Given the description of an element on the screen output the (x, y) to click on. 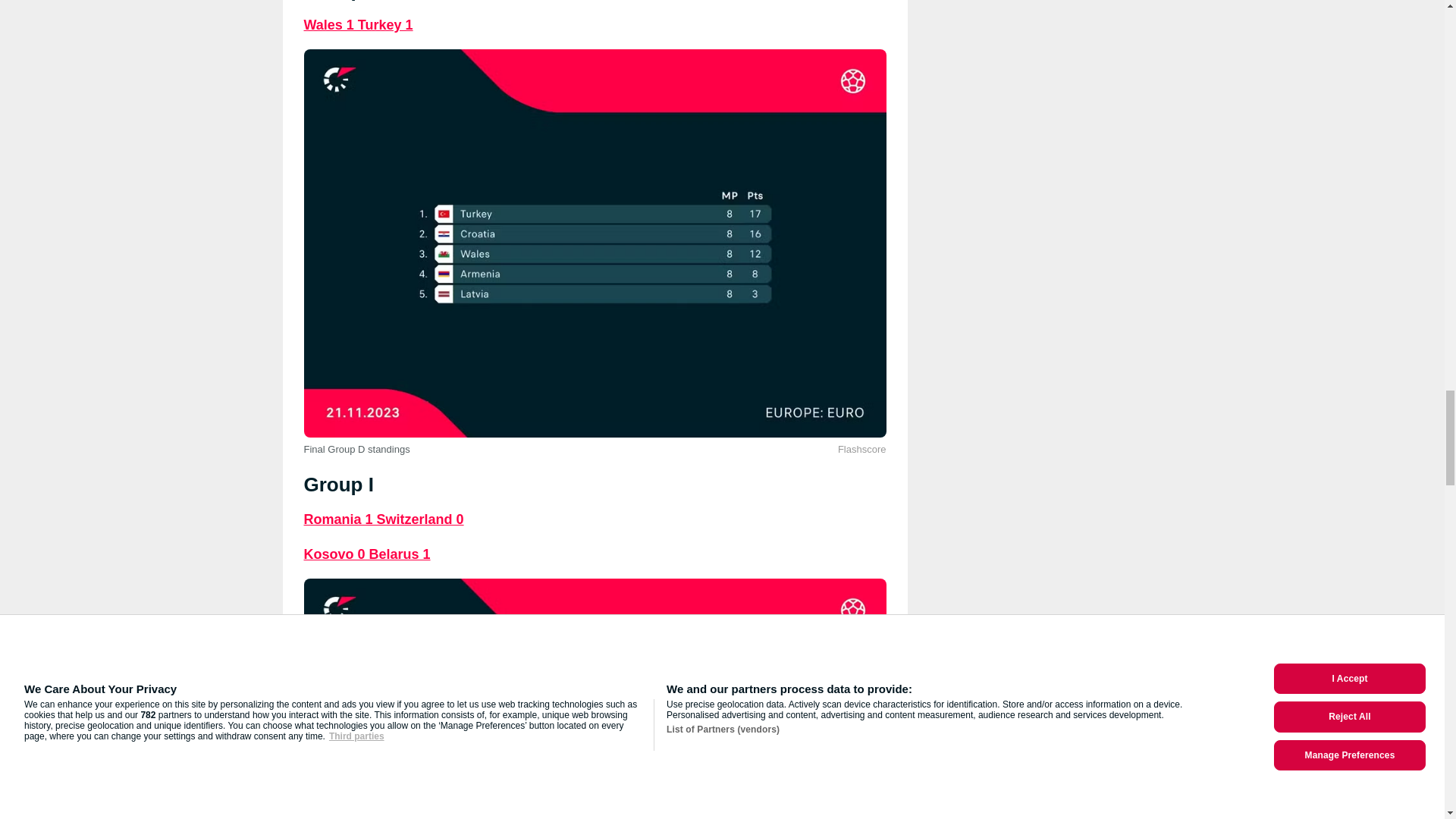
Romania 1 Switzerland 0 (382, 519)
Wales 1 Turkey 1 (357, 24)
Kosovo 0 Belarus 1 (365, 554)
